Given the description of an element on the screen output the (x, y) to click on. 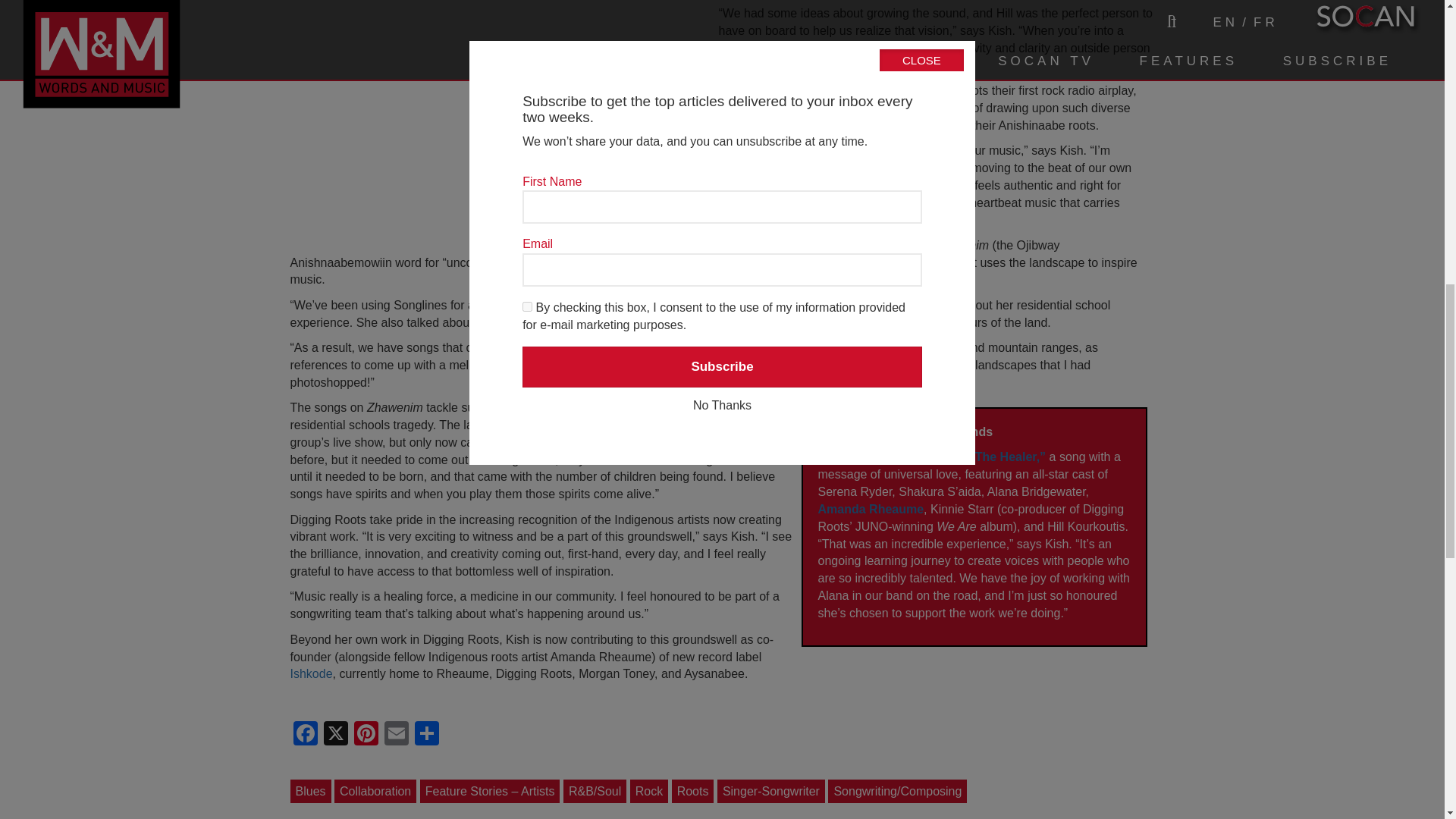
YouTube video player (497, 122)
